Given the description of an element on the screen output the (x, y) to click on. 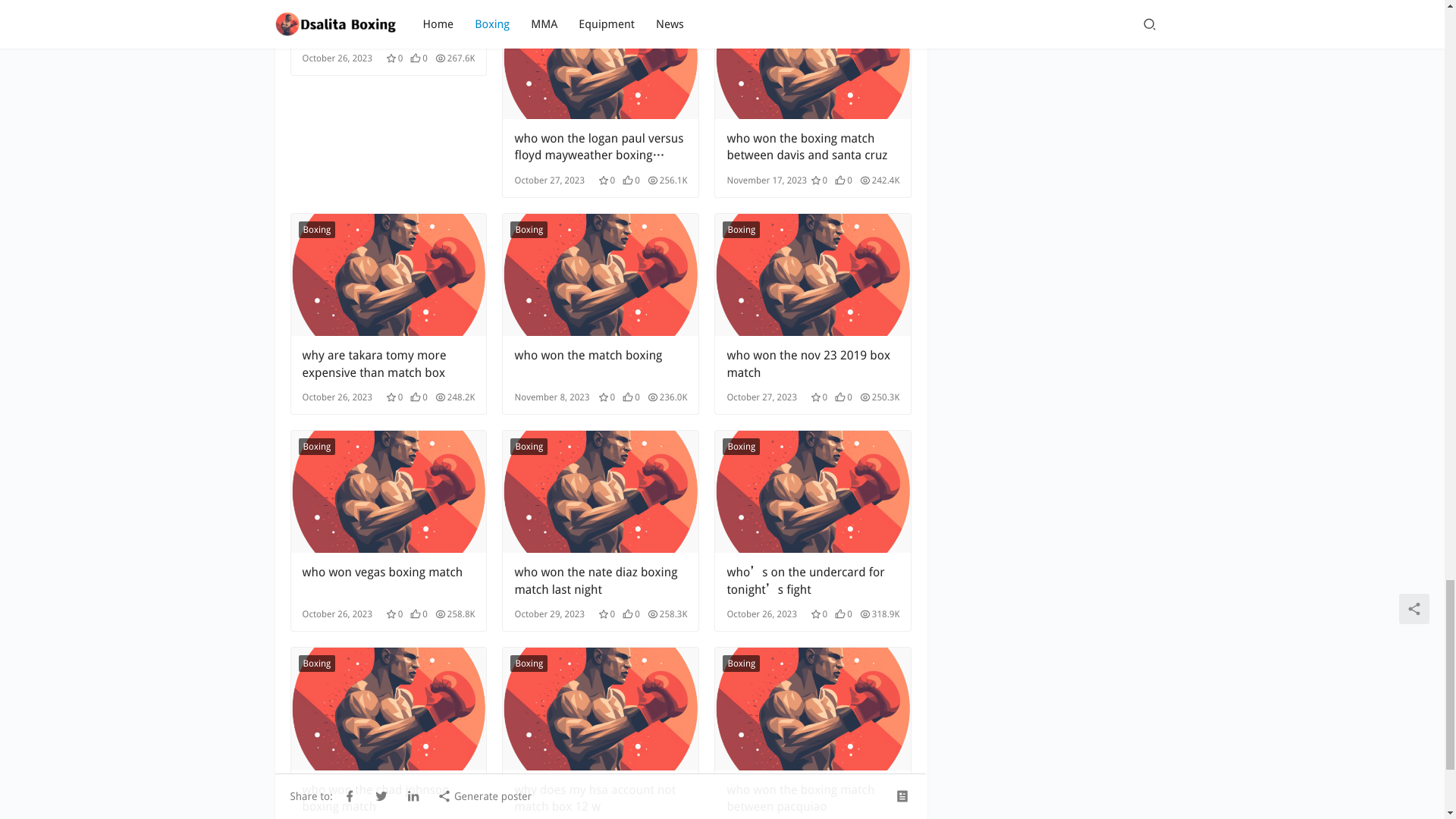
who won the logan paul versus floyd mayweather boxing match (600, 146)
why are takara tomy more expensive than match box (387, 363)
who won the nate diaz boxing match last night (600, 491)
who won the boxing match between davis and santa cruz (812, 146)
who won the boxing match between davis and santa cruz (812, 146)
why are takara tomy more expensive than match box (388, 274)
who won the nov 23 2019 box match (812, 363)
who won the boxing match between davis and santa cruz (812, 59)
who won vegas boxing match (388, 491)
who won the nov 23 2019 box match (812, 363)
Boxing (741, 12)
Boxing (529, 229)
who won the nov 23 2019 box match (812, 274)
Boxing (529, 12)
who won the logan paul versus floyd mayweather boxing match (600, 146)
